Given the description of an element on the screen output the (x, y) to click on. 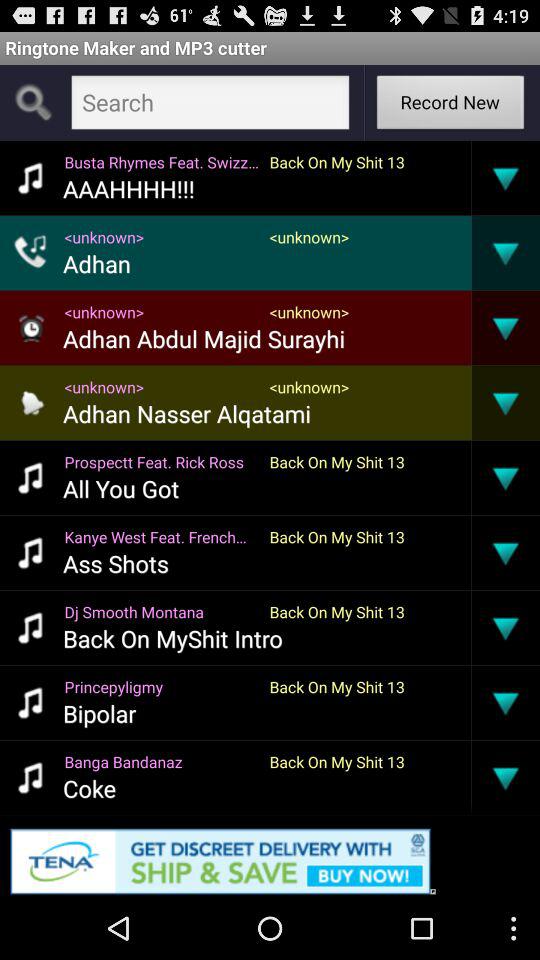
view the advertisement (270, 857)
